Given the description of an element on the screen output the (x, y) to click on. 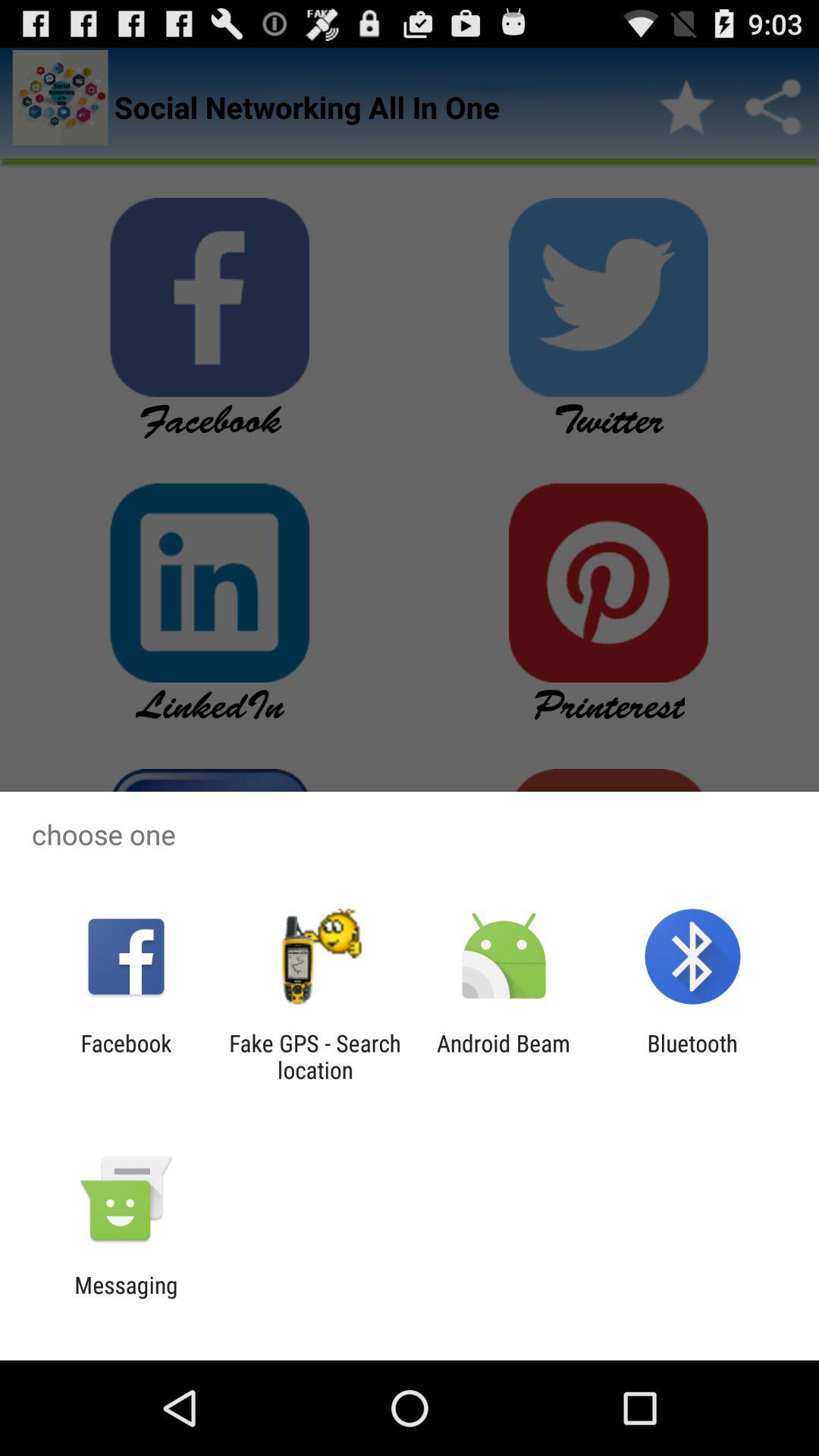
swipe until facebook (125, 1056)
